Given the description of an element on the screen output the (x, y) to click on. 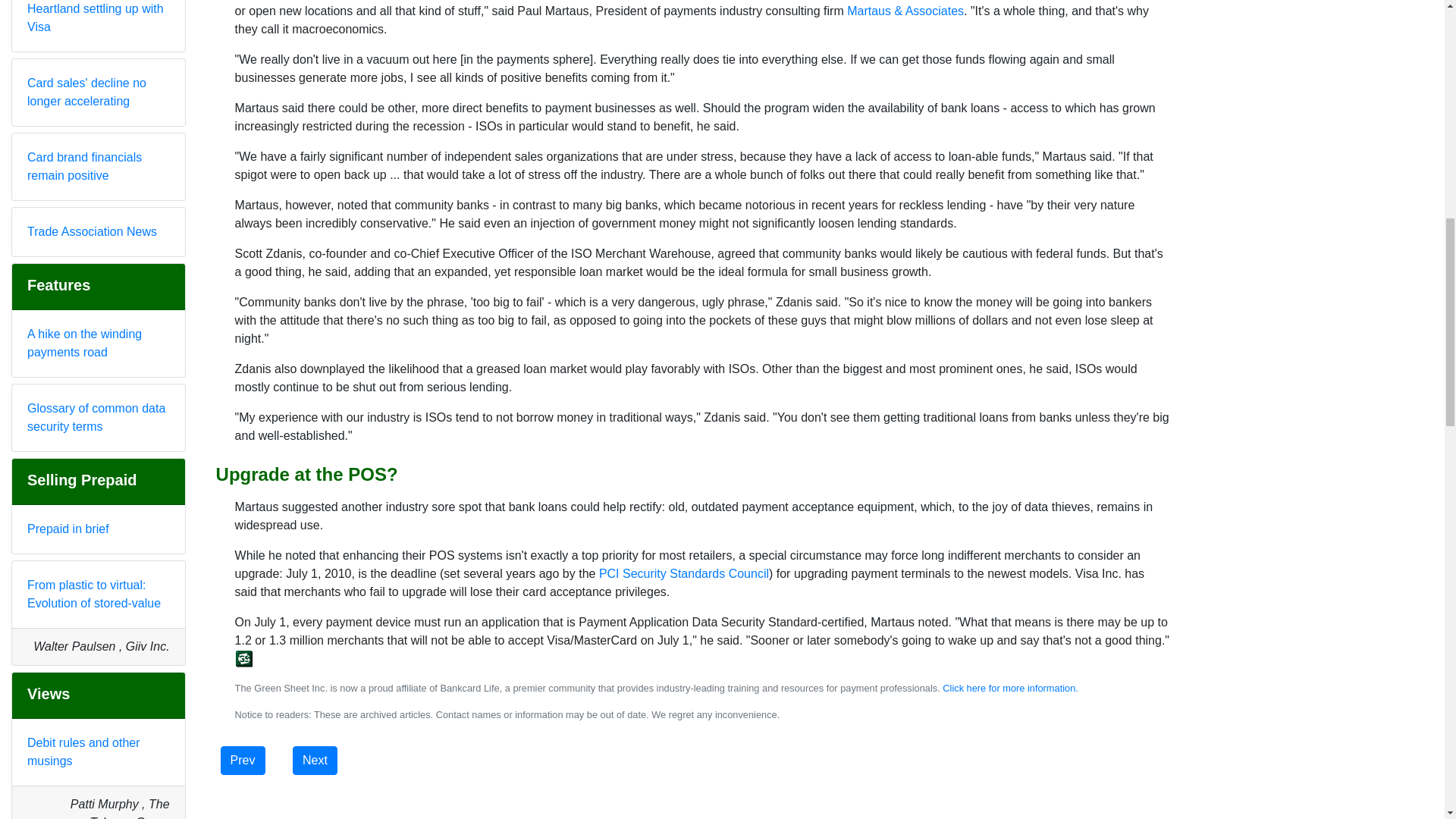
Click here for more information. (1010, 687)
Prev (242, 760)
PCI Security Standards Council (683, 573)
Next (314, 760)
